Given the description of an element on the screen output the (x, y) to click on. 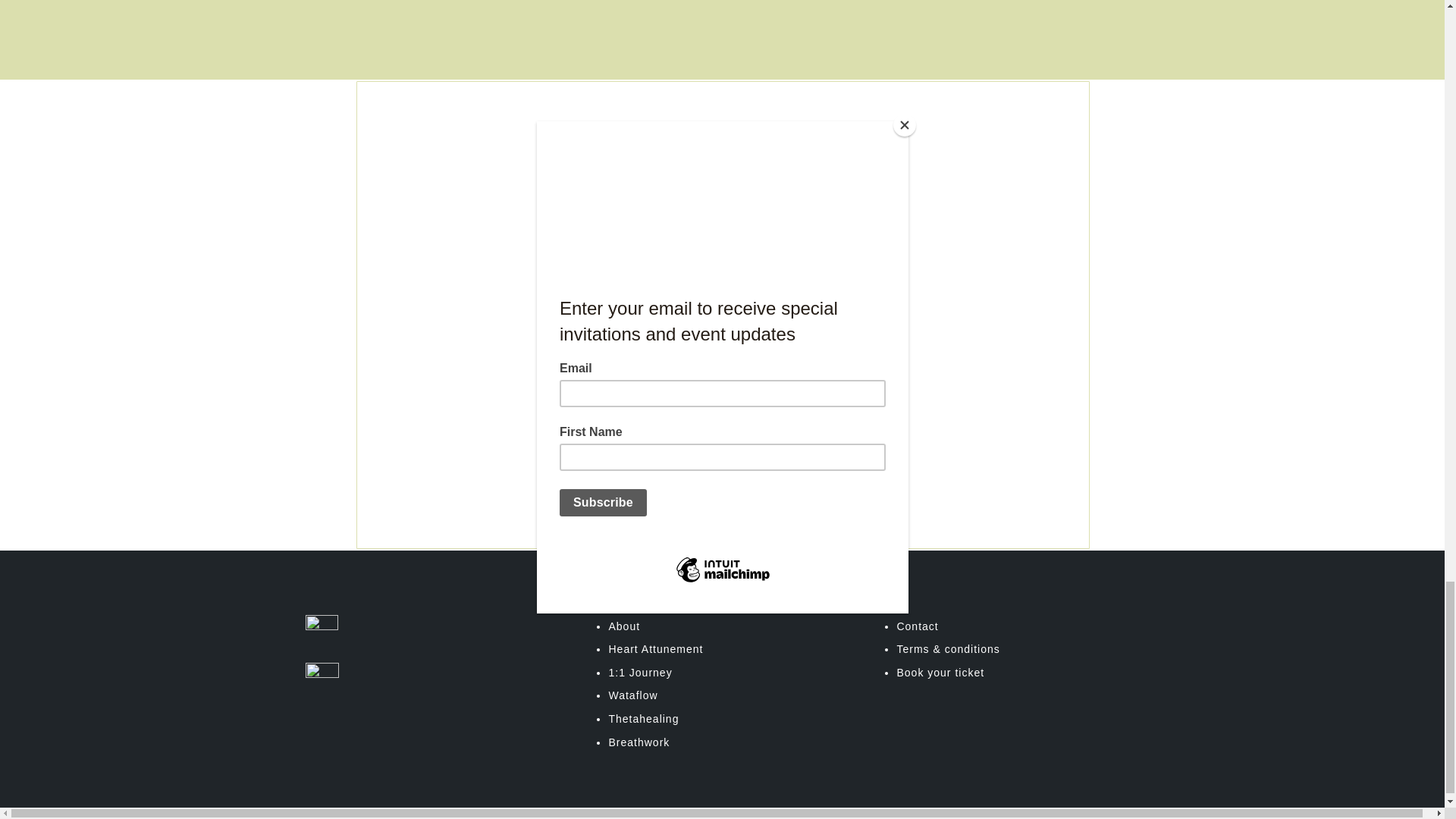
YES! I WANT TO RECEIVE THE PDF (687, 436)
1:1 Journey (639, 672)
About (624, 625)
Heart Attunement (655, 648)
Wataflow (633, 695)
Thetahealing (643, 718)
Breathwork (638, 742)
ActiveCampaign (597, 501)
Contact (916, 625)
Book your ticket (940, 672)
